Given the description of an element on the screen output the (x, y) to click on. 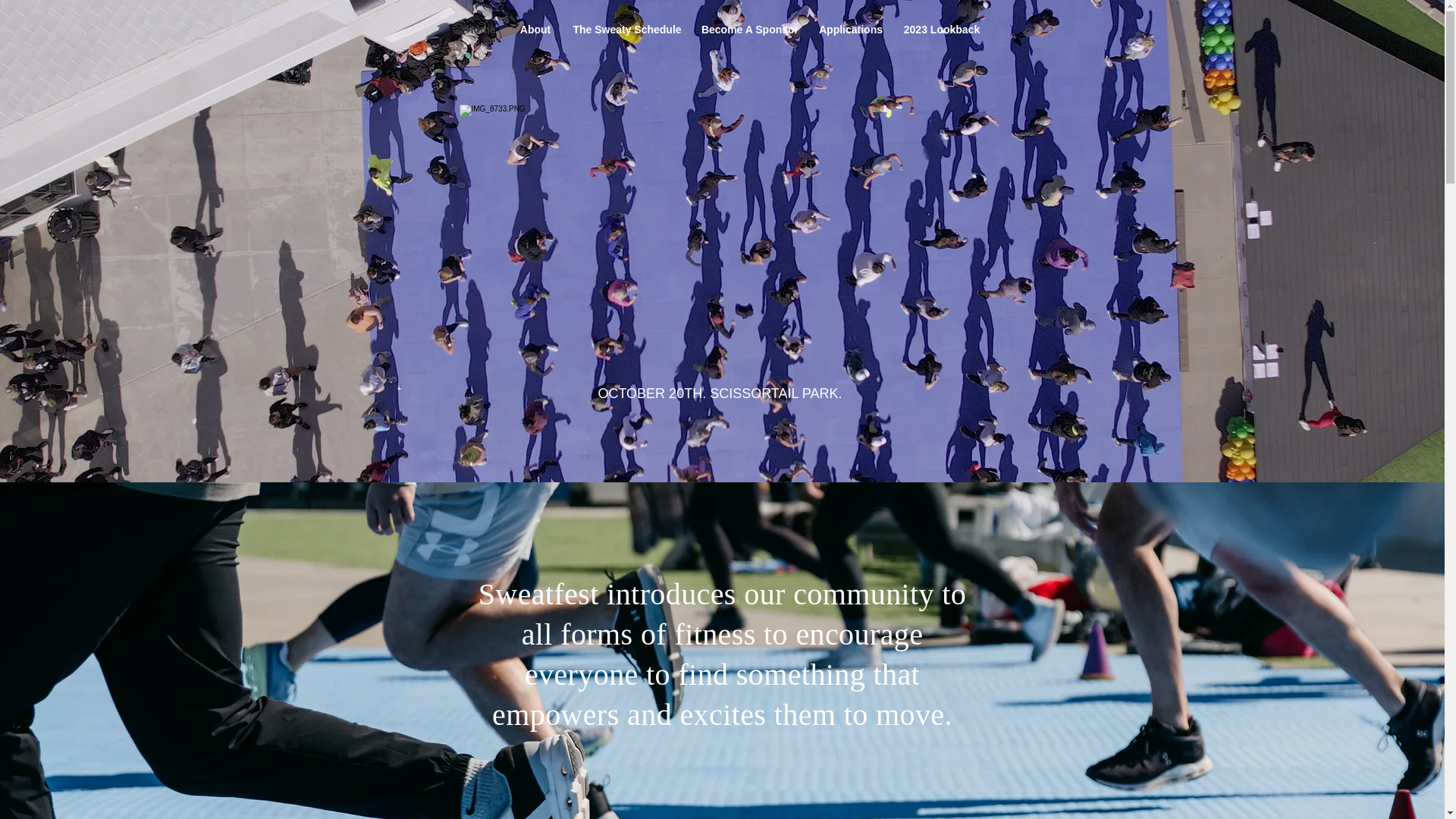
2023 Lookback (942, 29)
Home (479, 29)
About (535, 29)
The Sweaty Schedule (626, 29)
Become A Sponsor (750, 29)
Applications (850, 29)
